Given the description of an element on the screen output the (x, y) to click on. 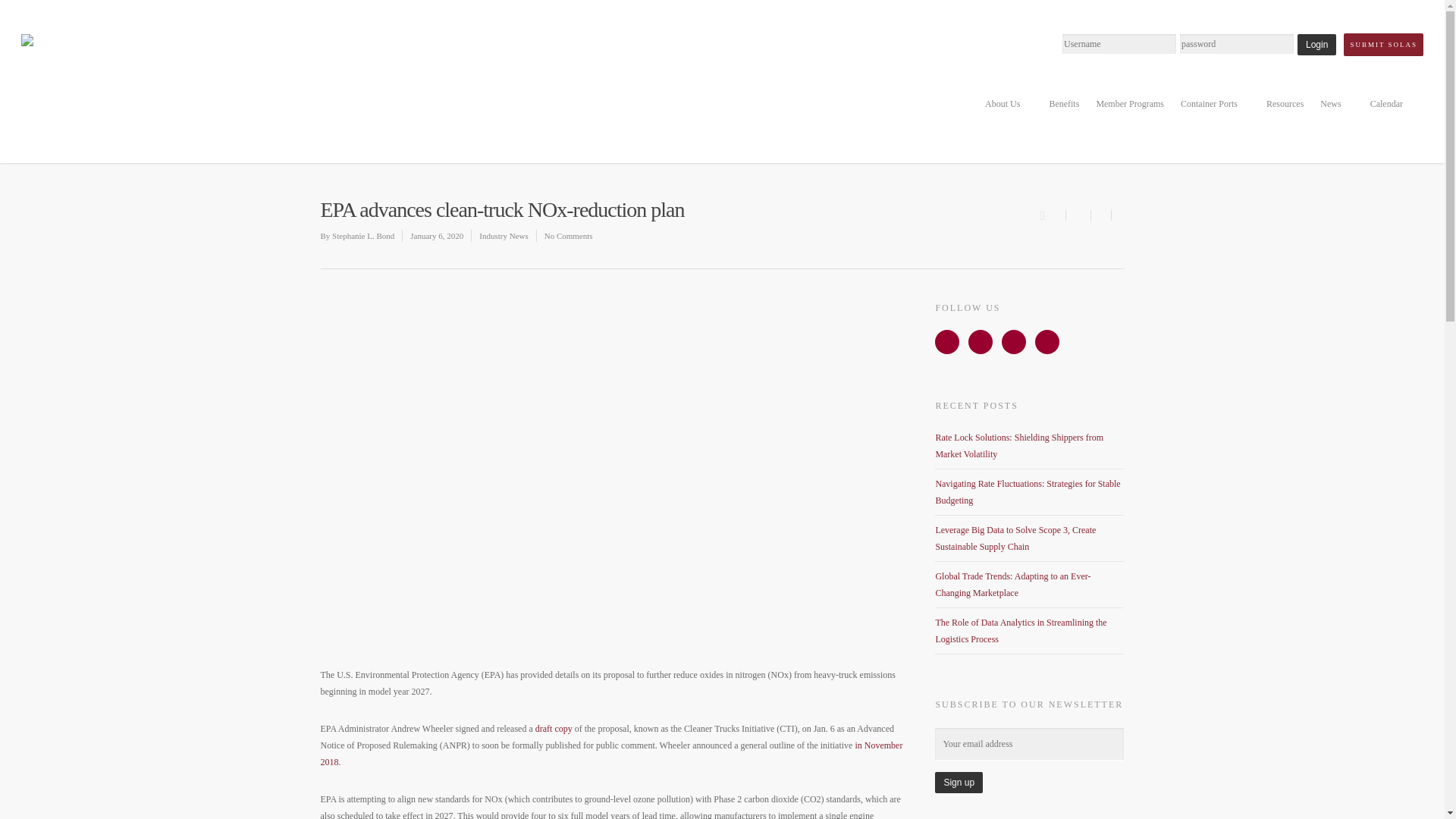
Pin this (1118, 214)
Resources (1285, 114)
Container Ports (1215, 114)
News (1336, 114)
Login (1316, 44)
SUBMIT SOLAS (1383, 44)
Calendar (1392, 114)
Benefits (1063, 114)
Sign up (958, 782)
About Us (1007, 114)
Login (1316, 44)
Member Programs (1129, 114)
Share this (1077, 214)
Love this (1052, 213)
Tweet this (1100, 214)
